Given the description of an element on the screen output the (x, y) to click on. 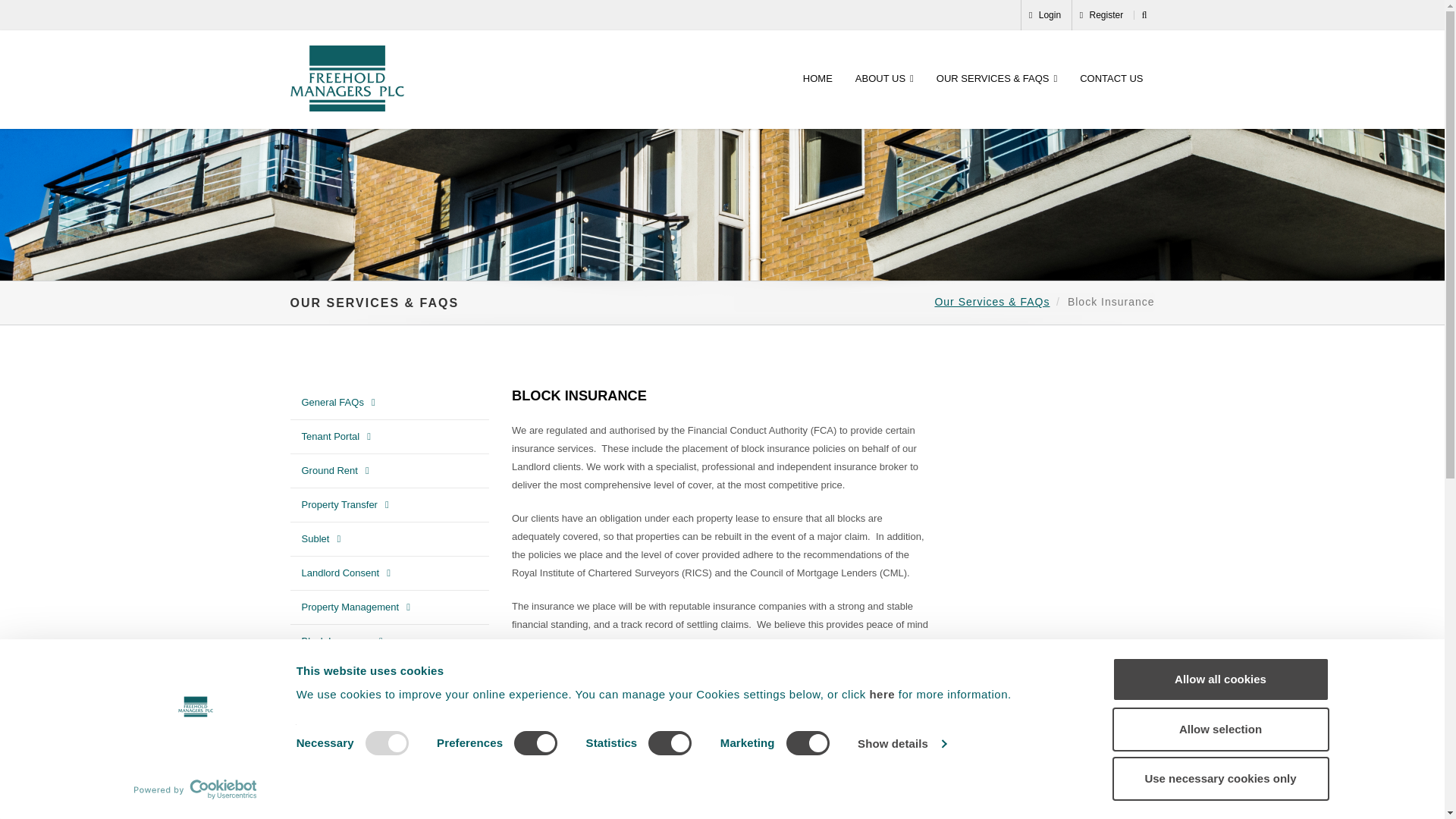
Login (1045, 14)
Show details (900, 743)
here (883, 694)
Allow all cookies (1219, 679)
Register (1101, 14)
Use necessary cookies only (1219, 778)
Allow selection (1219, 728)
